Given the description of an element on the screen output the (x, y) to click on. 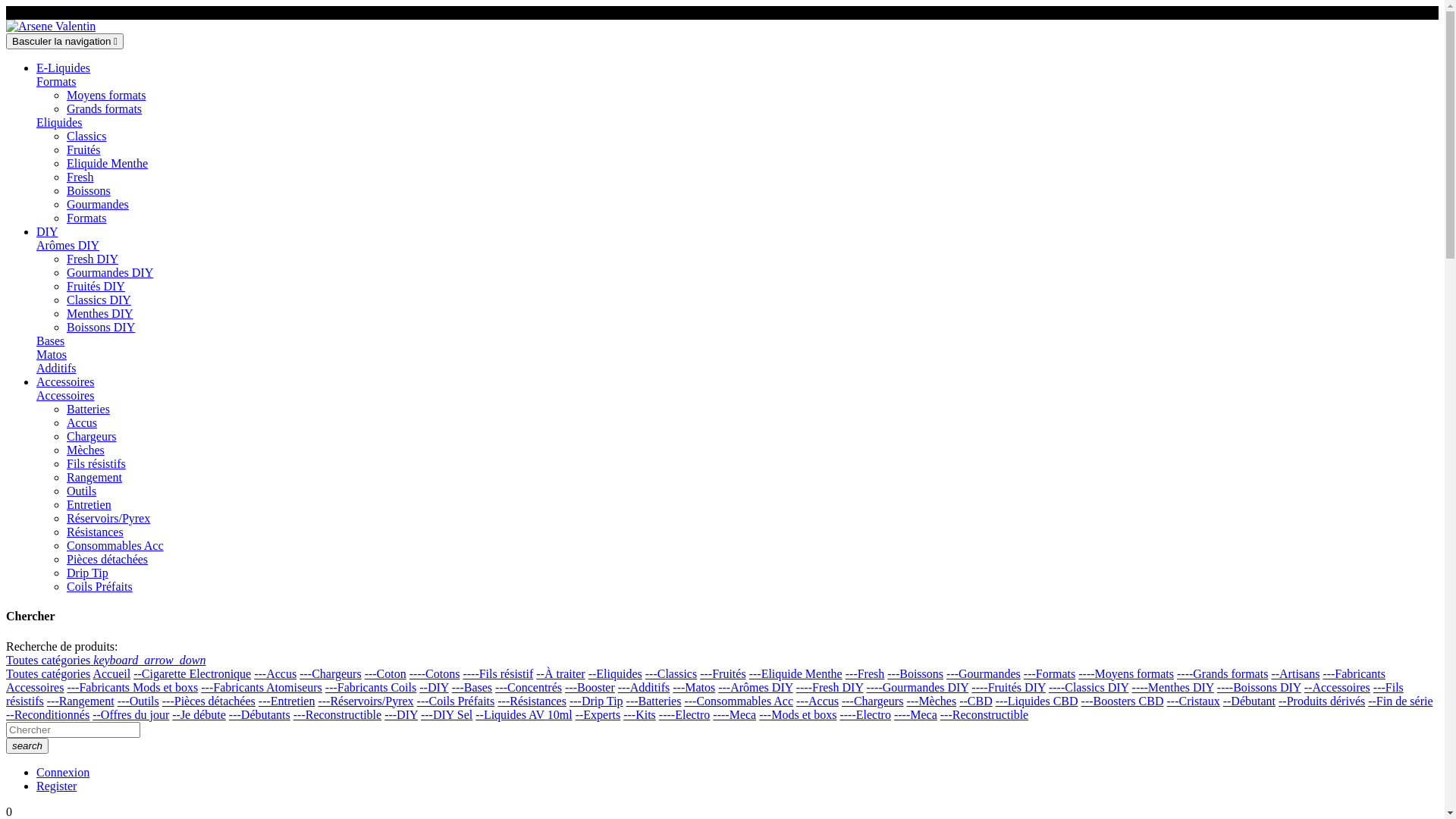
---Chargeurs Element type: text (872, 700)
---DIY Element type: text (400, 714)
--Accessoires Element type: text (1337, 686)
---Accus Element type: text (817, 700)
--Offres du jour Element type: text (130, 714)
---Fabricants Accessoires Element type: text (695, 680)
Boissons Element type: text (88, 190)
---Accus Element type: text (275, 673)
Gourmandes Element type: text (97, 203)
Accus Element type: text (81, 422)
--Experts Element type: text (598, 714)
Gourmandes DIY Element type: text (109, 272)
Register Element type: text (56, 785)
Classics Element type: text (86, 135)
---Coton Element type: text (385, 673)
Connexion Element type: text (62, 771)
---Fresh Element type: text (864, 673)
----Meca Element type: text (734, 714)
Drip Tip Element type: text (87, 572)
---Batteries Element type: text (653, 700)
Matos Element type: text (51, 354)
Eliquide Menthe Element type: text (106, 162)
E-Liquides Element type: text (63, 67)
Accessoires Element type: text (65, 395)
---Matos Element type: text (693, 686)
---Additifs Element type: text (643, 686)
---Boissons Element type: text (915, 673)
Accueil Element type: text (111, 673)
--Cigarette Electronique Element type: text (192, 673)
--DIY Element type: text (433, 686)
---Classics Element type: text (670, 673)
----Grands formats Element type: text (1221, 673)
---Fabricants Atomiseurs Element type: text (261, 686)
Grands formats Element type: text (103, 108)
---Bases Element type: text (471, 686)
Fresh Element type: text (80, 176)
----Moyens formats Element type: text (1125, 673)
Eliquides Element type: text (58, 122)
Menthes DIY Element type: text (99, 313)
---Fabricants Coils Element type: text (370, 686)
---Eliquide Menthe Element type: text (795, 673)
Outils Element type: text (81, 490)
---Entretien Element type: text (286, 700)
---Reconstructible Element type: text (984, 714)
----Menthes DIY Element type: text (1173, 686)
Classics DIY Element type: text (98, 299)
DIY Element type: text (46, 231)
Batteries Element type: text (87, 408)
Boissons DIY Element type: text (100, 326)
---DIY Sel Element type: text (446, 714)
---Rangement Element type: text (80, 700)
----Gourmandes DIY Element type: text (917, 686)
Consommables Acc Element type: text (114, 545)
---Gourmandes Element type: text (983, 673)
----Meca Element type: text (915, 714)
----Classics DIY Element type: text (1088, 686)
----Cotons Element type: text (434, 673)
----Electro Element type: text (865, 714)
---Mods et boxs Element type: text (797, 714)
----Fresh DIY Element type: text (829, 686)
Formats Element type: text (86, 217)
Accessoires Element type: text (65, 381)
---Outils Element type: text (138, 700)
---Reconstructible Element type: text (337, 714)
Bases Element type: text (50, 340)
--Liquides AV 10ml Element type: text (523, 714)
--Artisans Element type: text (1294, 673)
Formats Element type: text (55, 81)
---Fabricants Mods et boxs Element type: text (131, 686)
---Cristaux Element type: text (1192, 700)
---Chargeurs Element type: text (329, 673)
----Boissons DIY Element type: text (1259, 686)
---Liquides CBD Element type: text (1036, 700)
---Boosters CBD Element type: text (1122, 700)
---Consommables Acc Element type: text (738, 700)
Moyens formats Element type: text (105, 94)
--Eliquides Element type: text (615, 673)
---Formats Element type: text (1049, 673)
---Booster Element type: text (589, 686)
Entretien Element type: text (88, 504)
---Drip Tip Element type: text (596, 700)
search Element type: text (27, 745)
--CBD Element type: text (975, 700)
----Electro Element type: text (684, 714)
Additifs Element type: text (55, 367)
---Kits Element type: text (639, 714)
Chargeurs Element type: text (91, 435)
Rangement Element type: text (94, 476)
Fresh DIY Element type: text (92, 258)
